Given the description of an element on the screen output the (x, y) to click on. 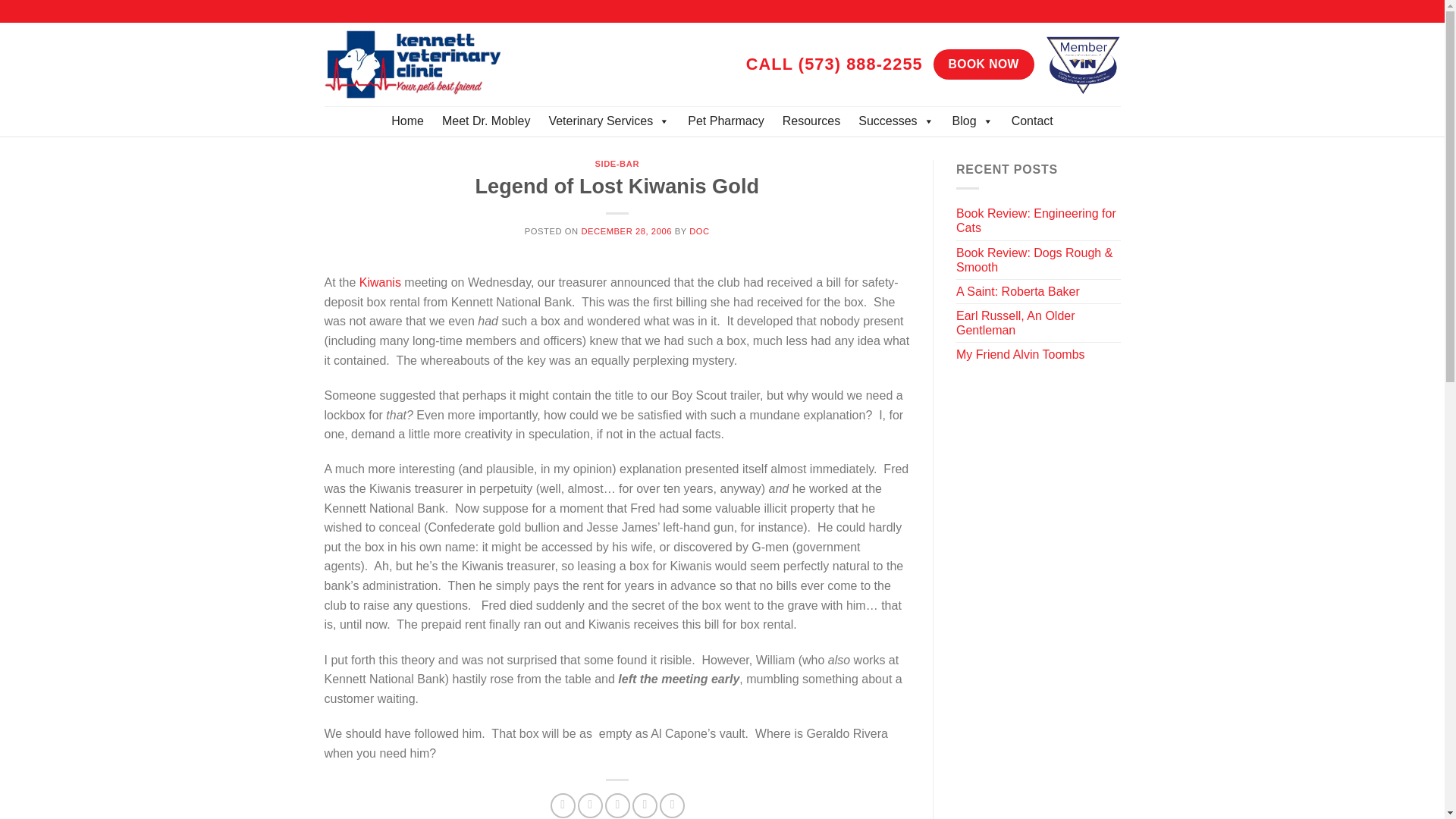
DECEMBER 28, 2006 (625, 230)
SIDE-BAR (616, 163)
Meet Dr. Mobley (485, 121)
BOOK NOW (983, 64)
DOC (699, 230)
Book Review: Engineering for Cats (1038, 220)
Share on Facebook (562, 805)
Blog (973, 121)
Successes (895, 121)
Resources (810, 121)
Email to a Friend (617, 805)
Kiwanis (380, 282)
Contact (1032, 121)
Pet Pharmacy (725, 121)
Pin on Pinterest (644, 805)
